Given the description of an element on the screen output the (x, y) to click on. 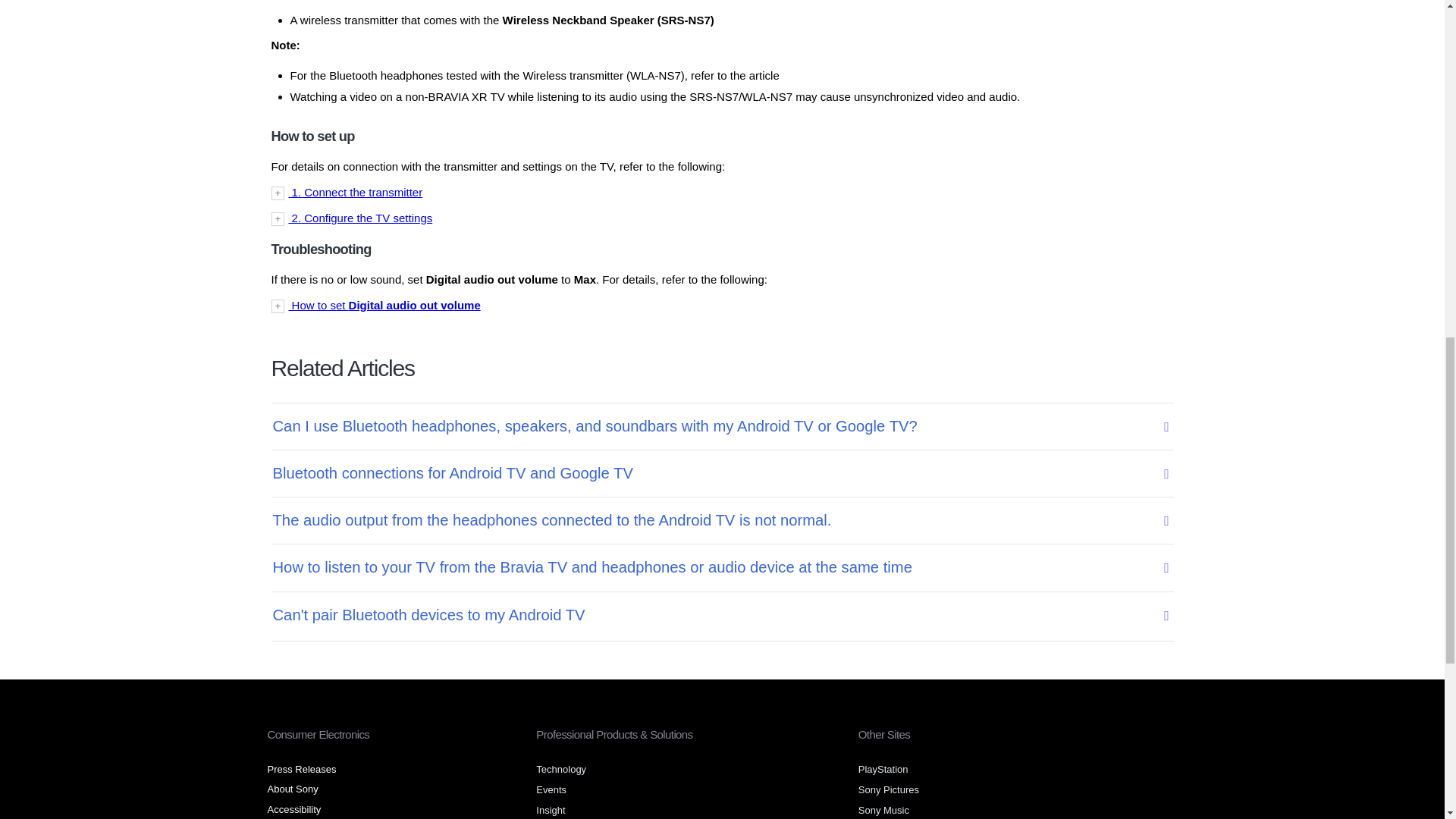
expand (721, 192)
expand (721, 305)
expand (721, 217)
